Given the description of an element on the screen output the (x, y) to click on. 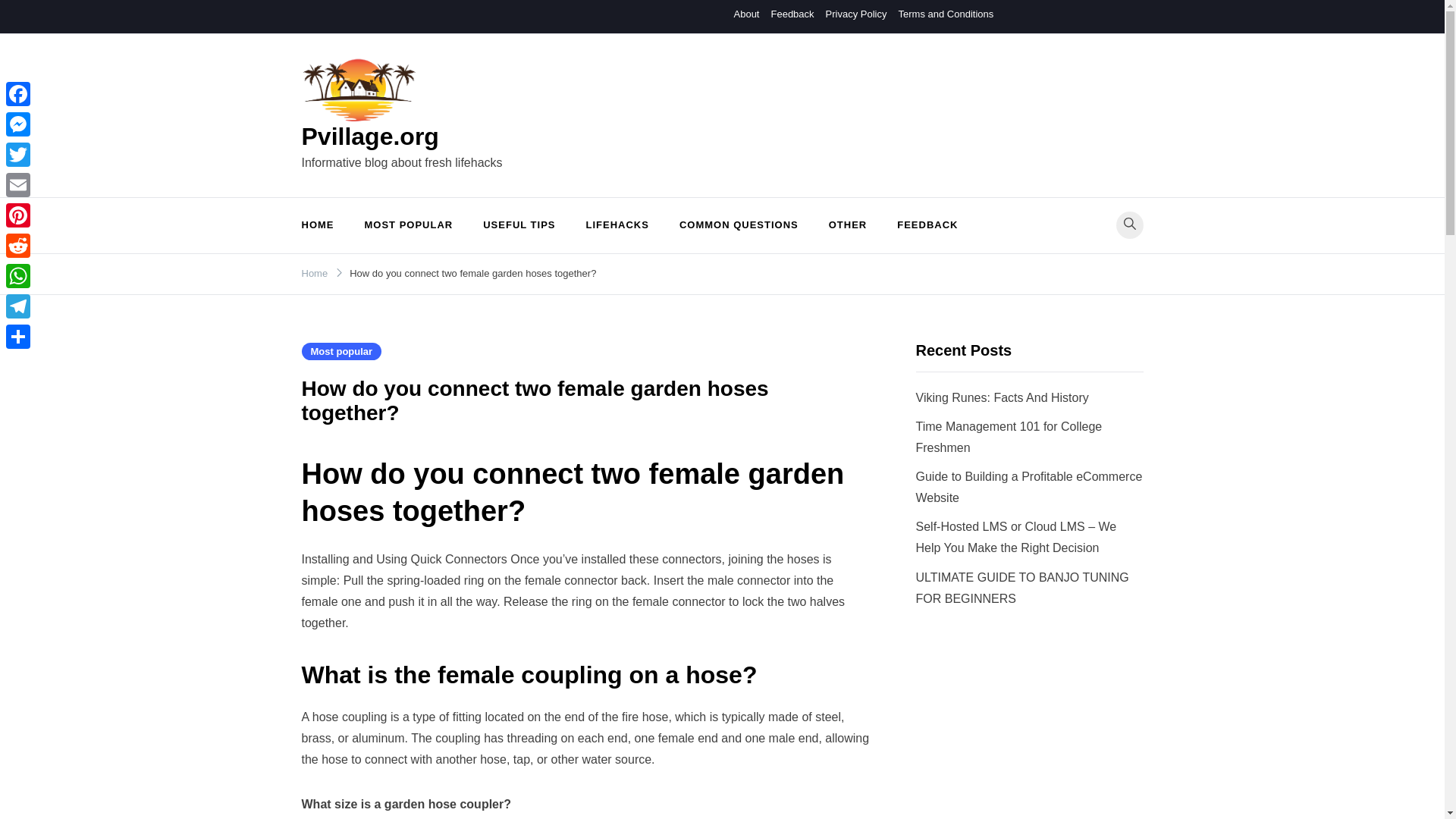
OTHER (847, 225)
Privacy Policy (855, 13)
ULTIMATE GUIDE TO BANJO TUNING FOR BEGINNERS (1022, 587)
WhatsApp (17, 276)
Most popular (341, 351)
MOST POPULAR (408, 225)
Home (315, 273)
FEEDBACK (927, 225)
Time Management 101 for College Freshmen (1008, 437)
Email (17, 184)
Facebook (17, 93)
Pinterest (17, 214)
Reddit (17, 245)
USEFUL TIPS (518, 225)
Pvillage.org (370, 135)
